Given the description of an element on the screen output the (x, y) to click on. 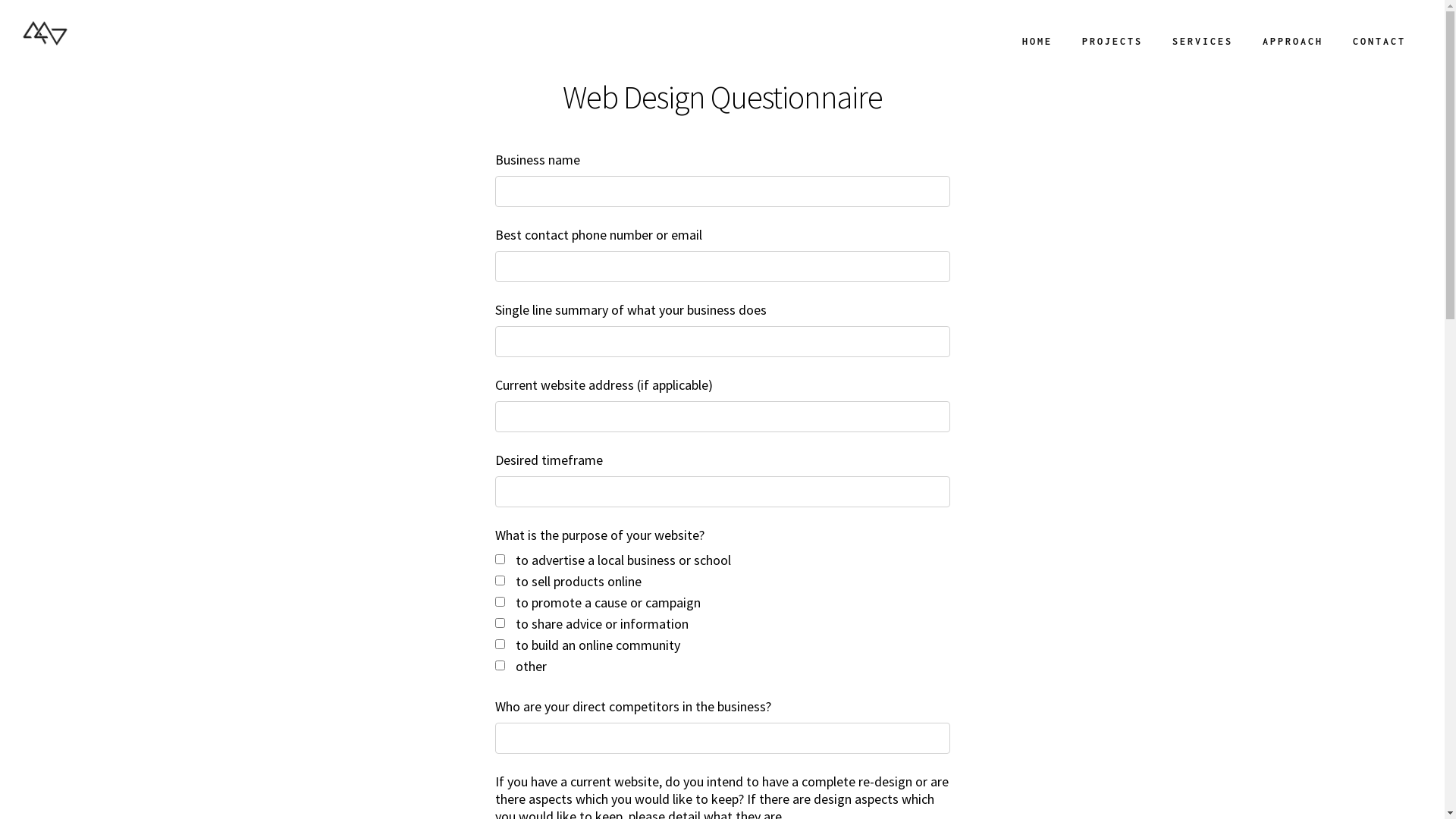
CONTACT Element type: text (1377, 41)
SERVICES Element type: text (1201, 41)
HOME Element type: text (1035, 41)
APPROACH Element type: text (1291, 41)
PROJECTS Element type: text (1110, 41)
